Given the description of an element on the screen output the (x, y) to click on. 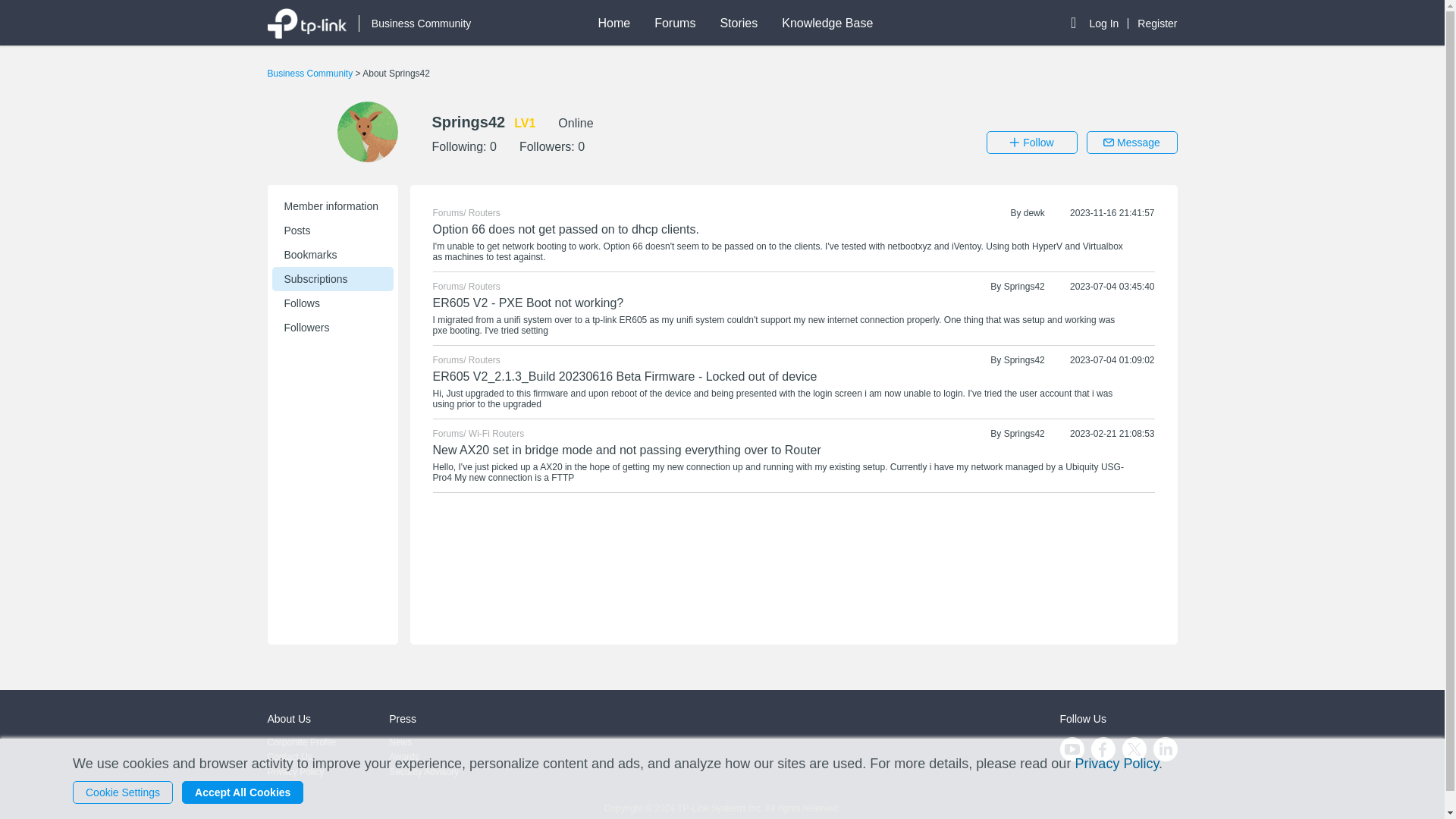
Routers (484, 213)
Log In (1108, 23)
Bookmarks (331, 254)
Subscriptions (331, 278)
Message (1131, 142)
Business Community (310, 72)
dewk (1034, 213)
Business Community (414, 23)
Register (1156, 23)
Followers (331, 327)
